Given the description of an element on the screen output the (x, y) to click on. 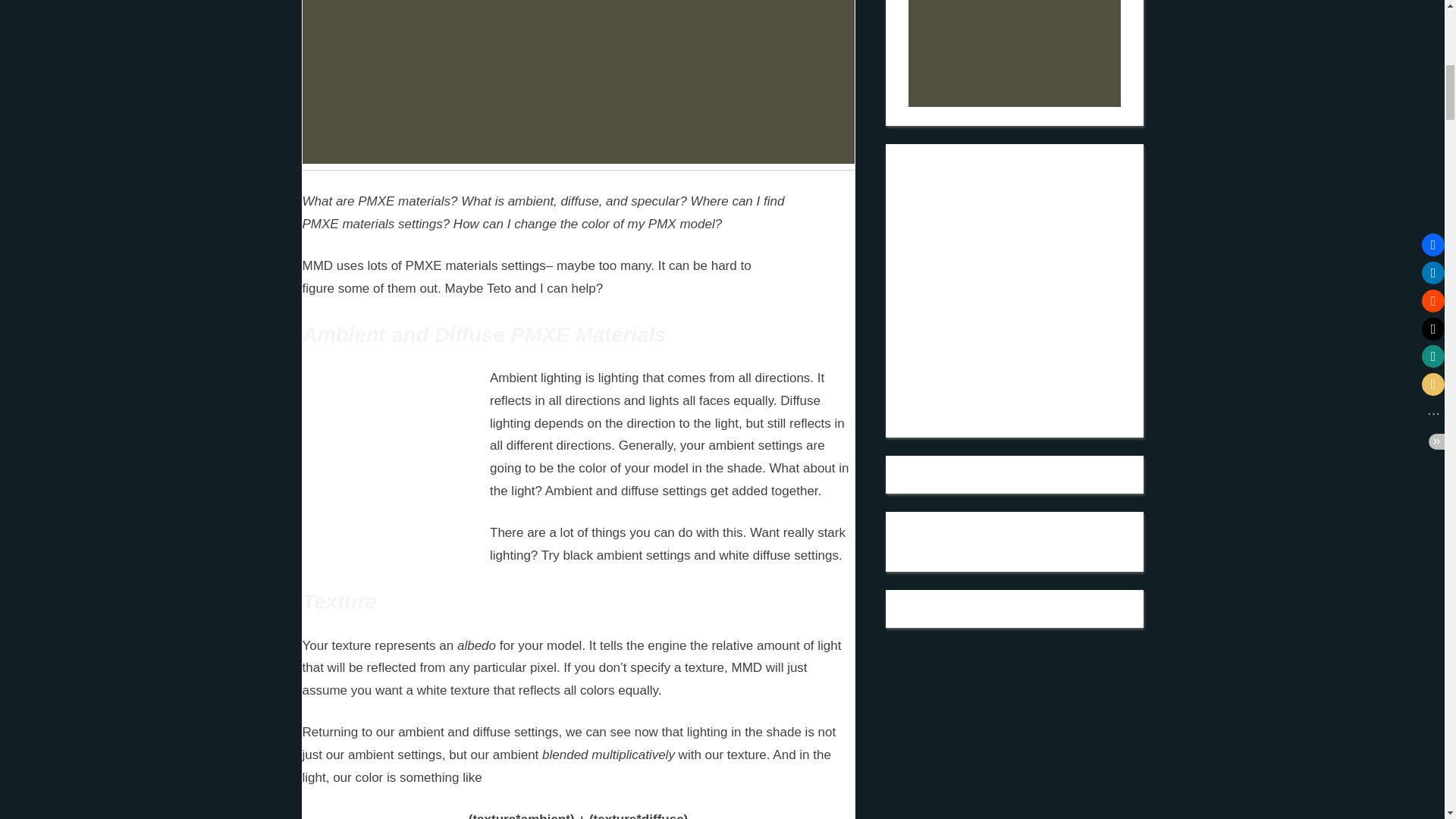
Learn how to make your own MMD motions (986, 360)
Advertisement (577, 81)
Download the latest version of MikuMikuDance! (987, 200)
Advertisement (1014, 53)
See the MMD Step-by-Step instructions page! (987, 273)
Teto introduces the PMXE materials tutorial (385, 450)
